Given the description of an element on the screen output the (x, y) to click on. 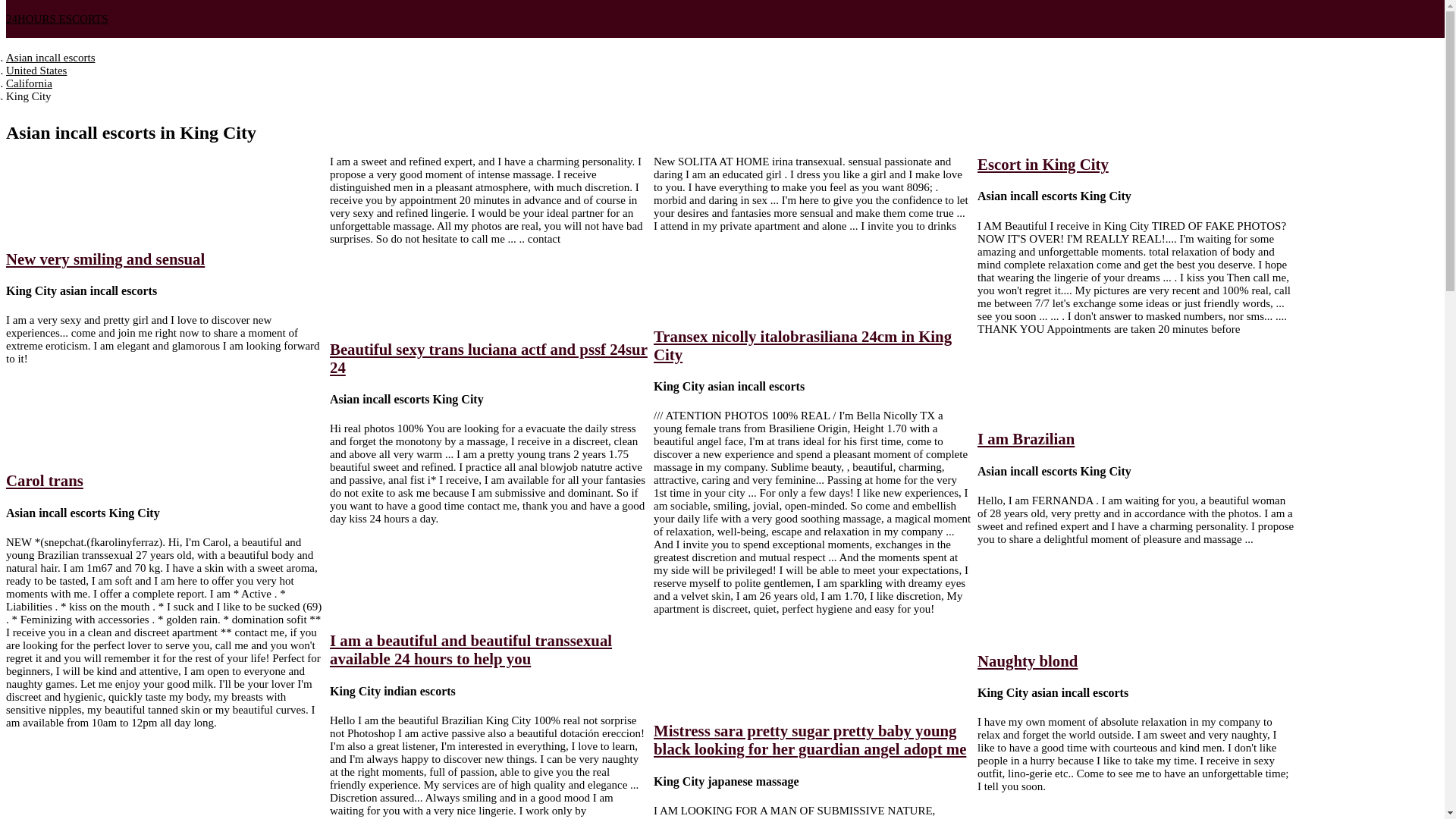
Naughty blond Element type: text (1027, 660)
I am Brazilian Element type: text (1025, 438)
24HOURS ESCORTS Element type: text (57, 18)
Transex nicolly italobrasiliana 24cm in King City Element type: text (802, 345)
Escort in King City Element type: text (1042, 163)
New very smiling and sensual Element type: text (105, 258)
Beautiful sexy trans luciana actf and pssf 24sur 24 Element type: text (488, 358)
United States Element type: text (36, 70)
Asian incall escorts Element type: text (50, 57)
Carol trans Element type: text (44, 480)
California Element type: text (29, 83)
